Given the description of an element on the screen output the (x, y) to click on. 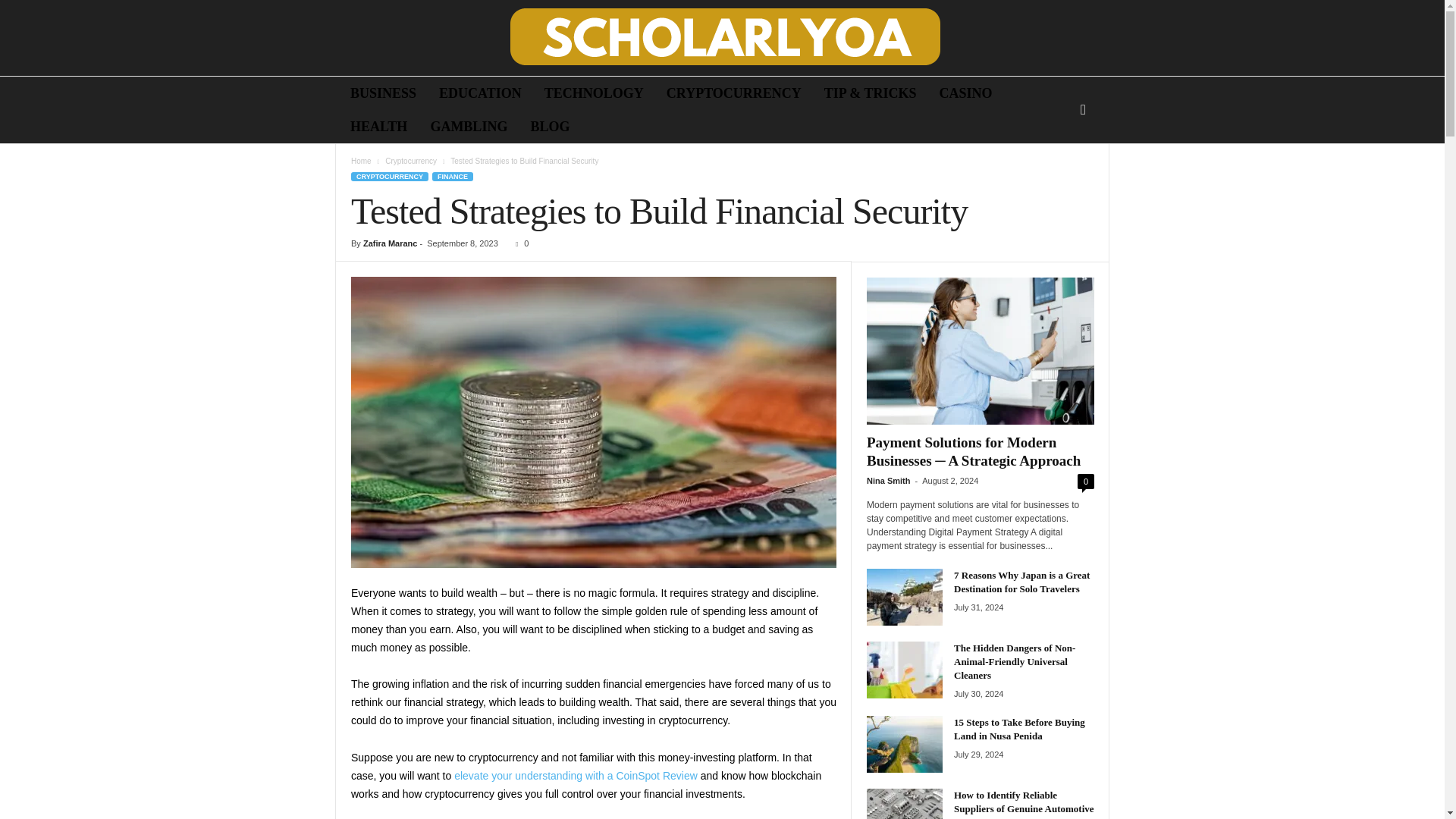
View all posts in Cryptocurrency (410, 161)
Cryptocurrency (410, 161)
CRYPTOCURRENCY (733, 92)
HEALTH (379, 126)
elevate your understanding with a CoinSpot Review (575, 775)
EDUCATION (480, 92)
CRYPTOCURRENCY (389, 175)
Zafira Maranc (389, 243)
BLOG (549, 126)
